Given the description of an element on the screen output the (x, y) to click on. 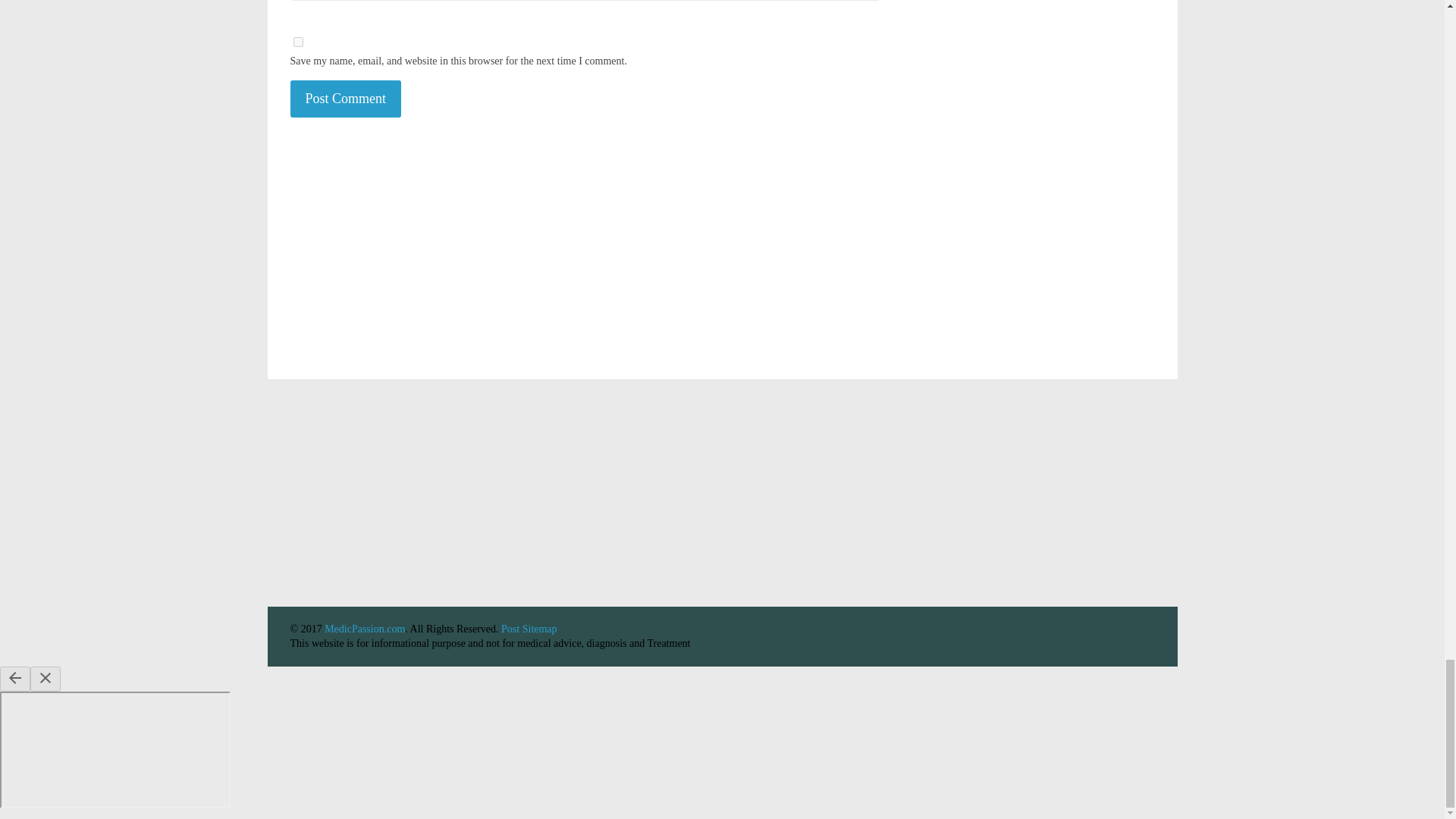
Post Comment (345, 98)
yes (297, 41)
Post Comment (345, 98)
